Given the description of an element on the screen output the (x, y) to click on. 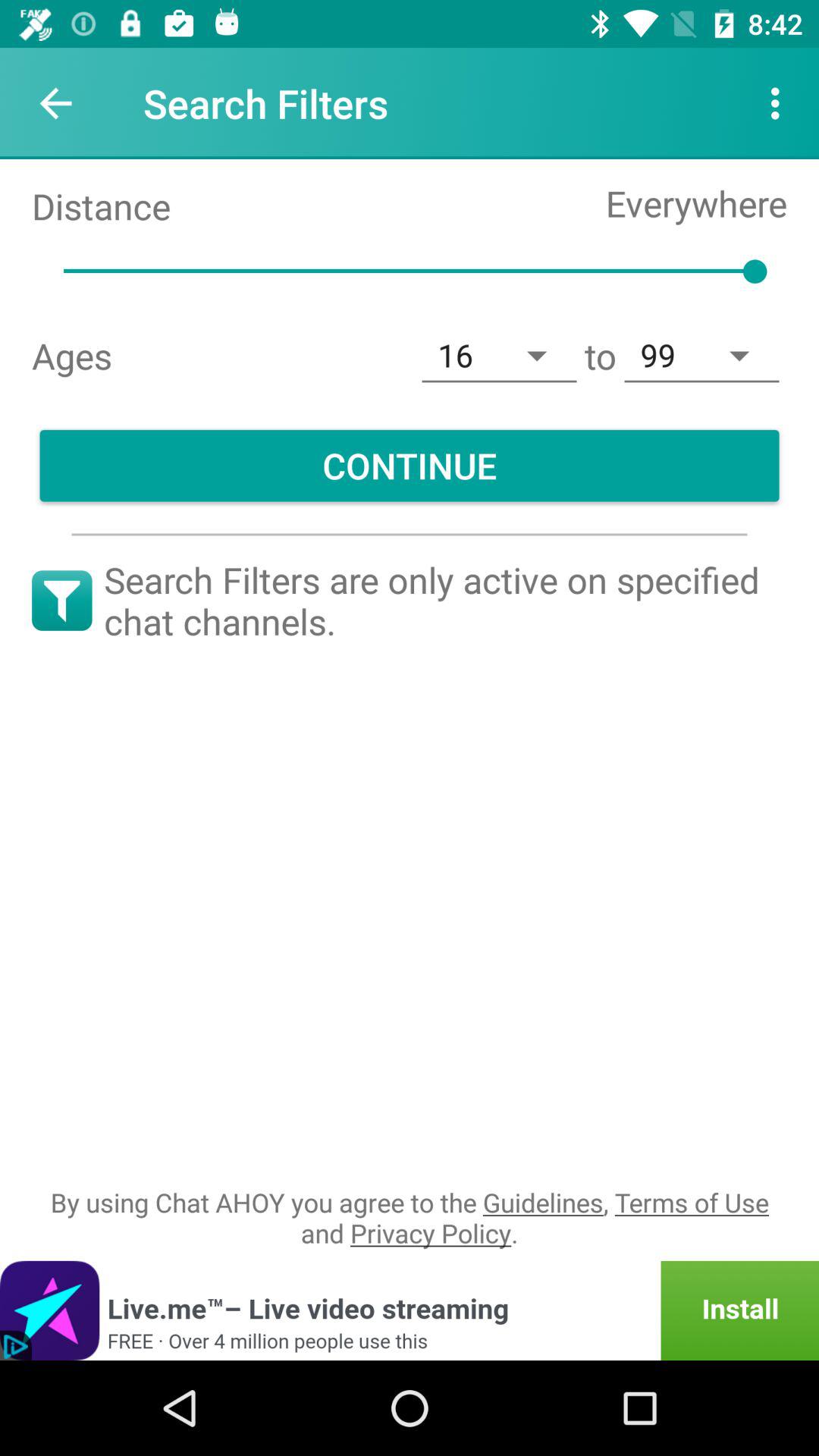
launch the icon next to the search filters icon (779, 103)
